Given the description of an element on the screen output the (x, y) to click on. 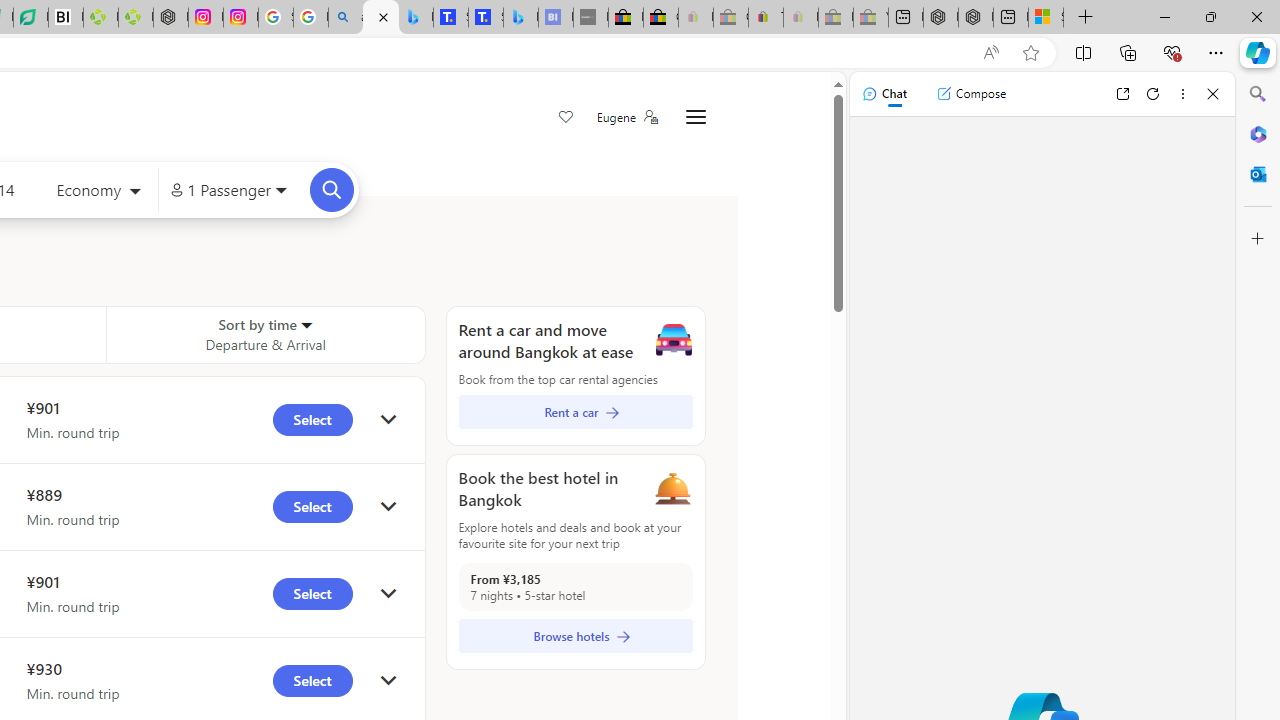
Rent a car (575, 412)
Save (565, 118)
Microsoft Bing Travel - Shangri-La Hotel Bangkok (520, 17)
click to get details (388, 680)
Browse hotels (575, 636)
Descarga Driver Updater (136, 17)
Yard, Garden & Outdoor Living - Sleeping (870, 17)
